Given the description of an element on the screen output the (x, y) to click on. 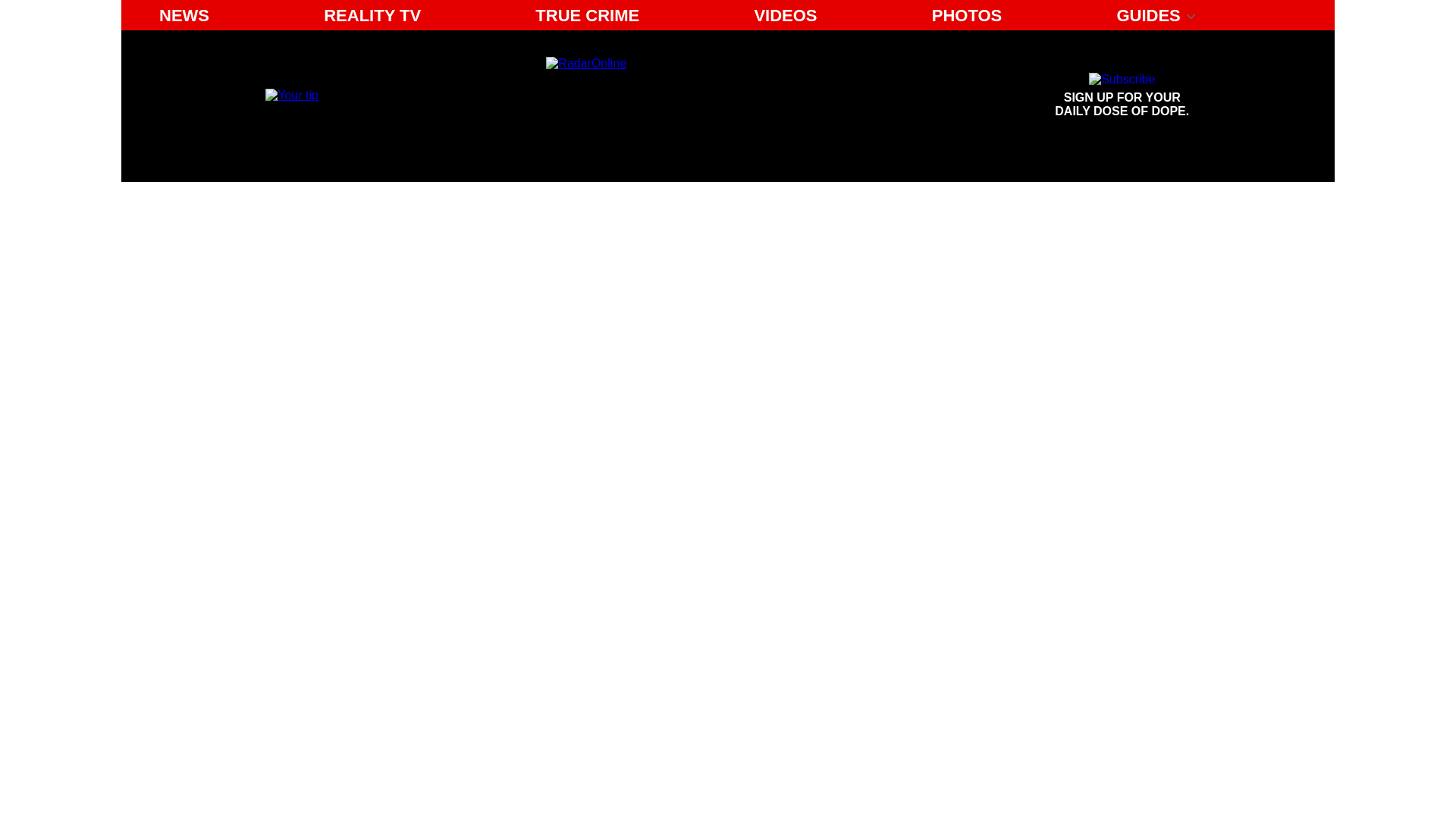
TRUE CRIME (586, 15)
Radar Online (1122, 94)
REALITY TV (685, 95)
Email us your tip (371, 15)
VIDEOS (291, 94)
PHOTOS (784, 15)
NEWS (967, 15)
Sign up for your daily dose of dope. (183, 15)
